Given the description of an element on the screen output the (x, y) to click on. 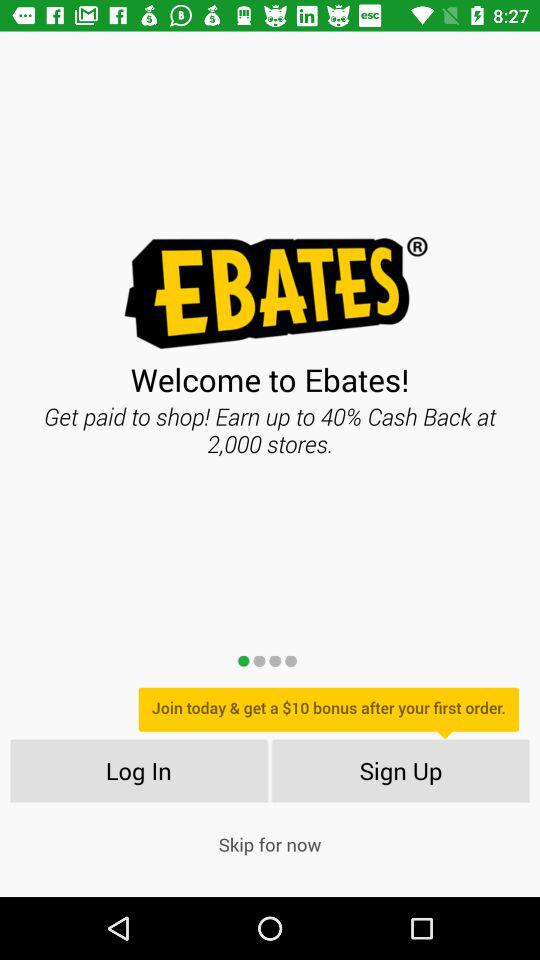
launch the log in icon (138, 770)
